Given the description of an element on the screen output the (x, y) to click on. 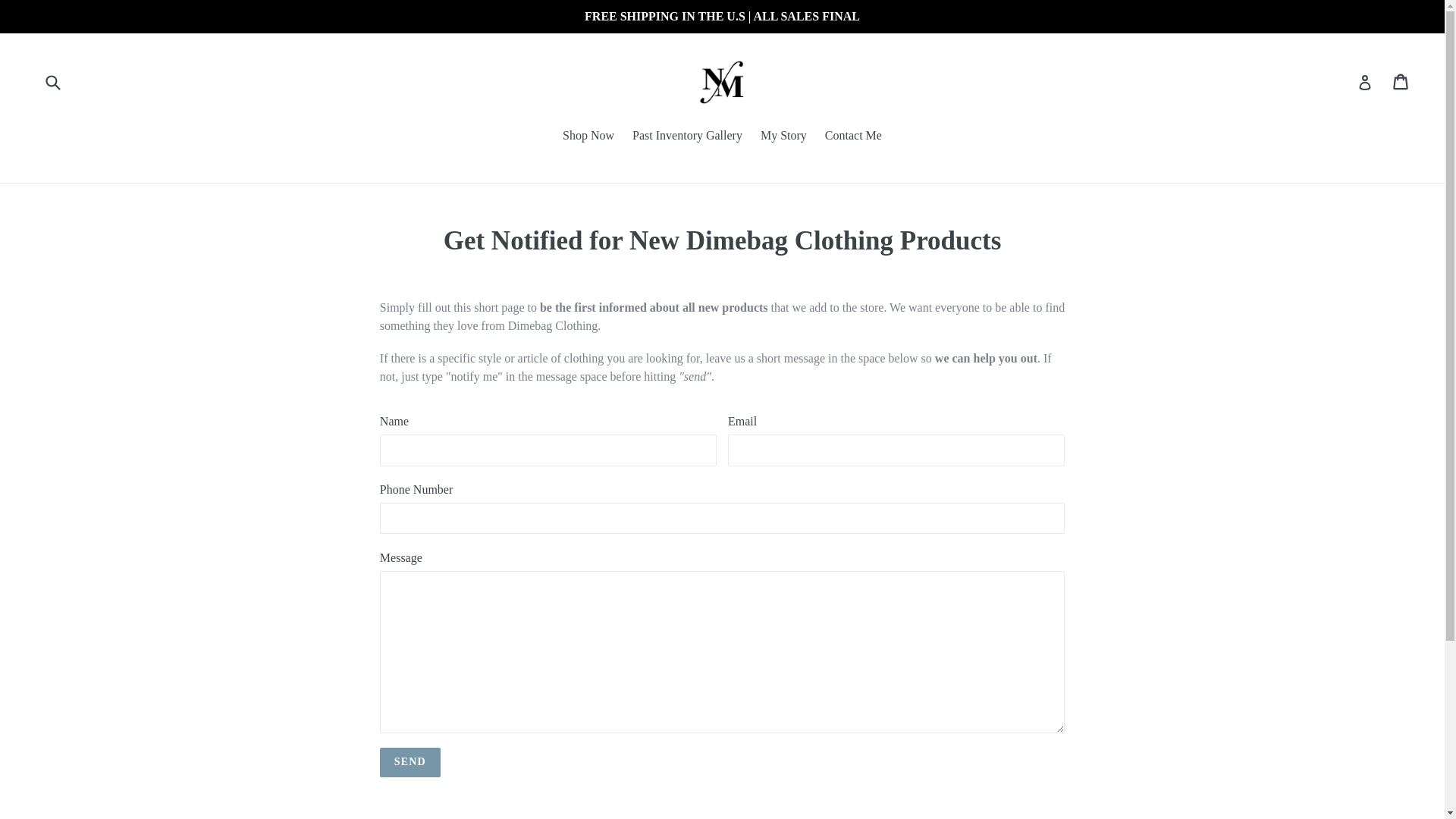
Past Inventory Gallery (686, 136)
Contact Me (852, 136)
Send (410, 762)
Shop Now (587, 136)
My Story (782, 136)
Send (410, 762)
